Given the description of an element on the screen output the (x, y) to click on. 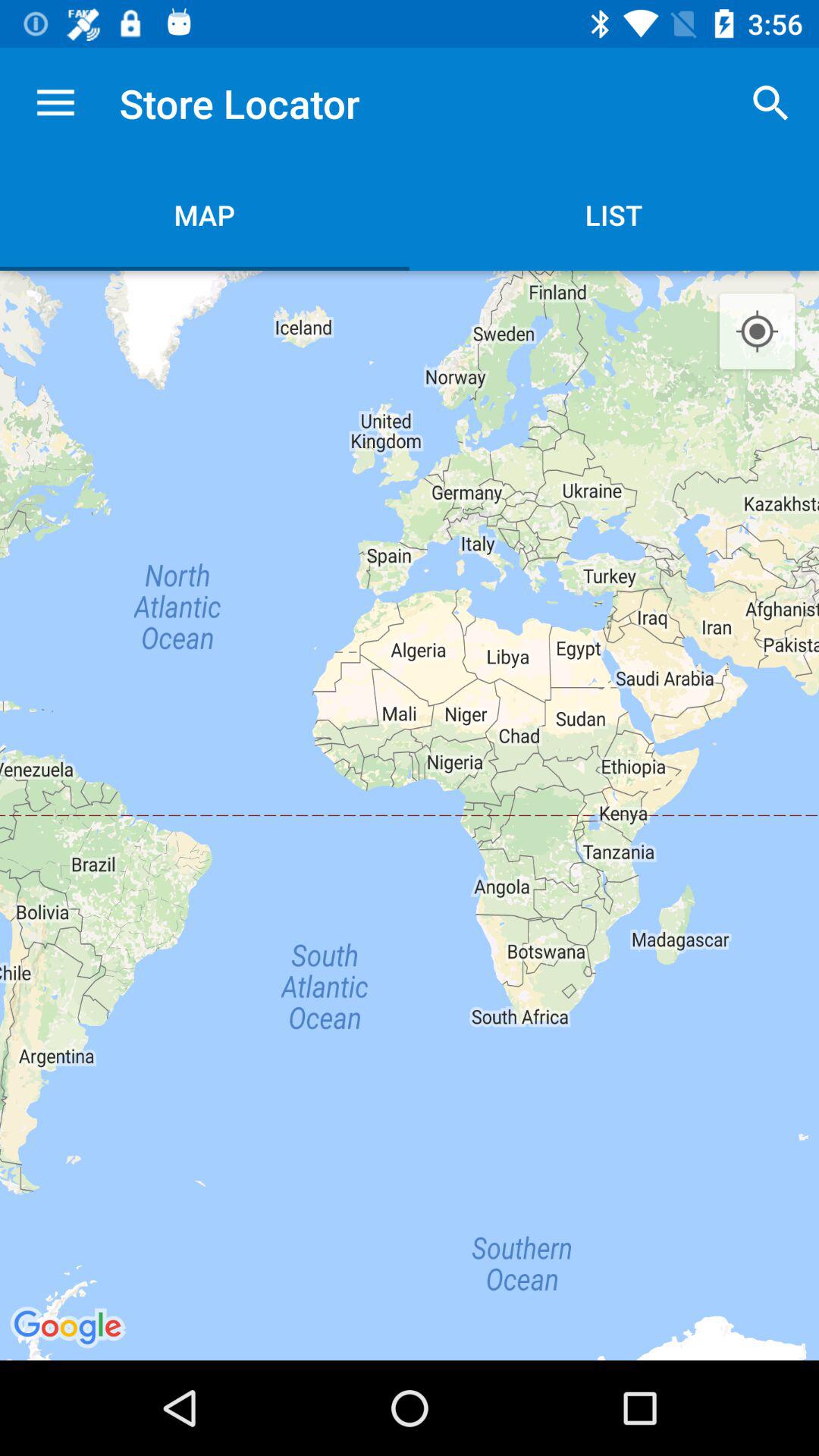
click the icon next to the store locator icon (771, 103)
